Given the description of an element on the screen output the (x, y) to click on. 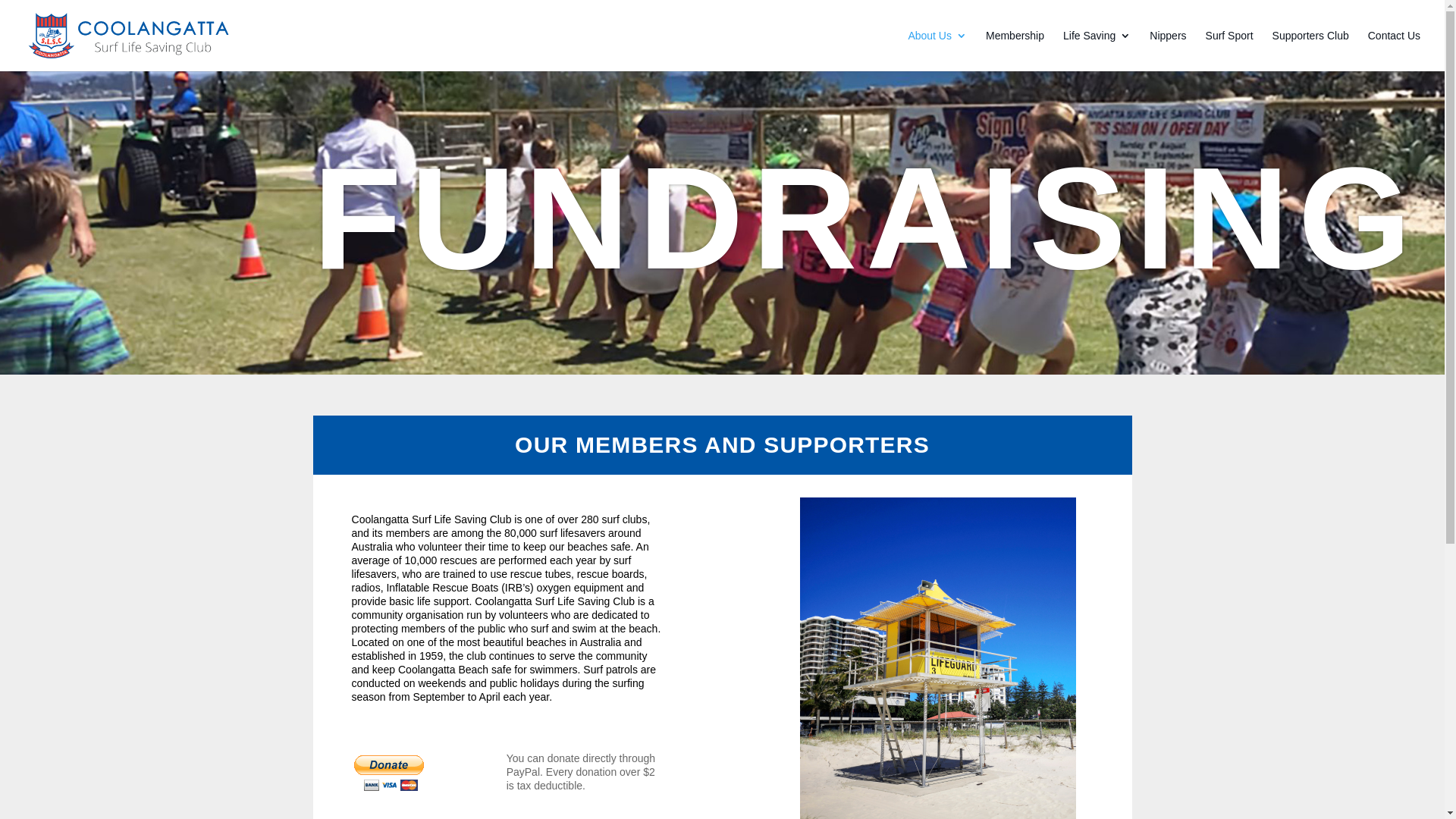
Membership Element type: text (1014, 50)
Surf Sport Element type: text (1229, 50)
Life Saving Element type: text (1096, 50)
Supporters Club Element type: text (1310, 50)
Nippers Element type: text (1167, 50)
PayPal - The safer, easier way to pay online! Element type: hover (388, 772)
About Us Element type: text (936, 50)
Contact Us Element type: text (1394, 50)
